Given the description of an element on the screen output the (x, y) to click on. 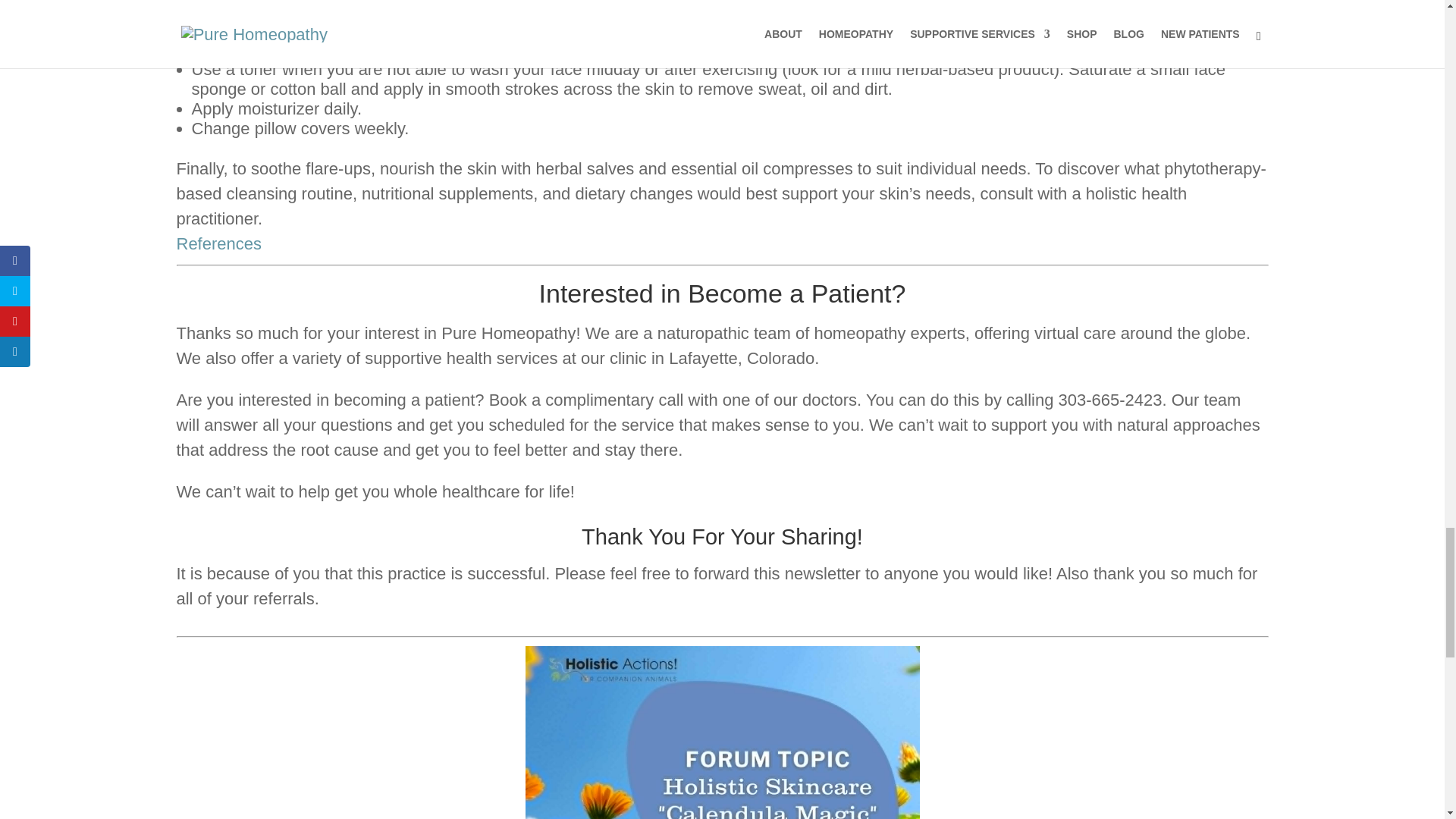
References (219, 243)
